Given the description of an element on the screen output the (x, y) to click on. 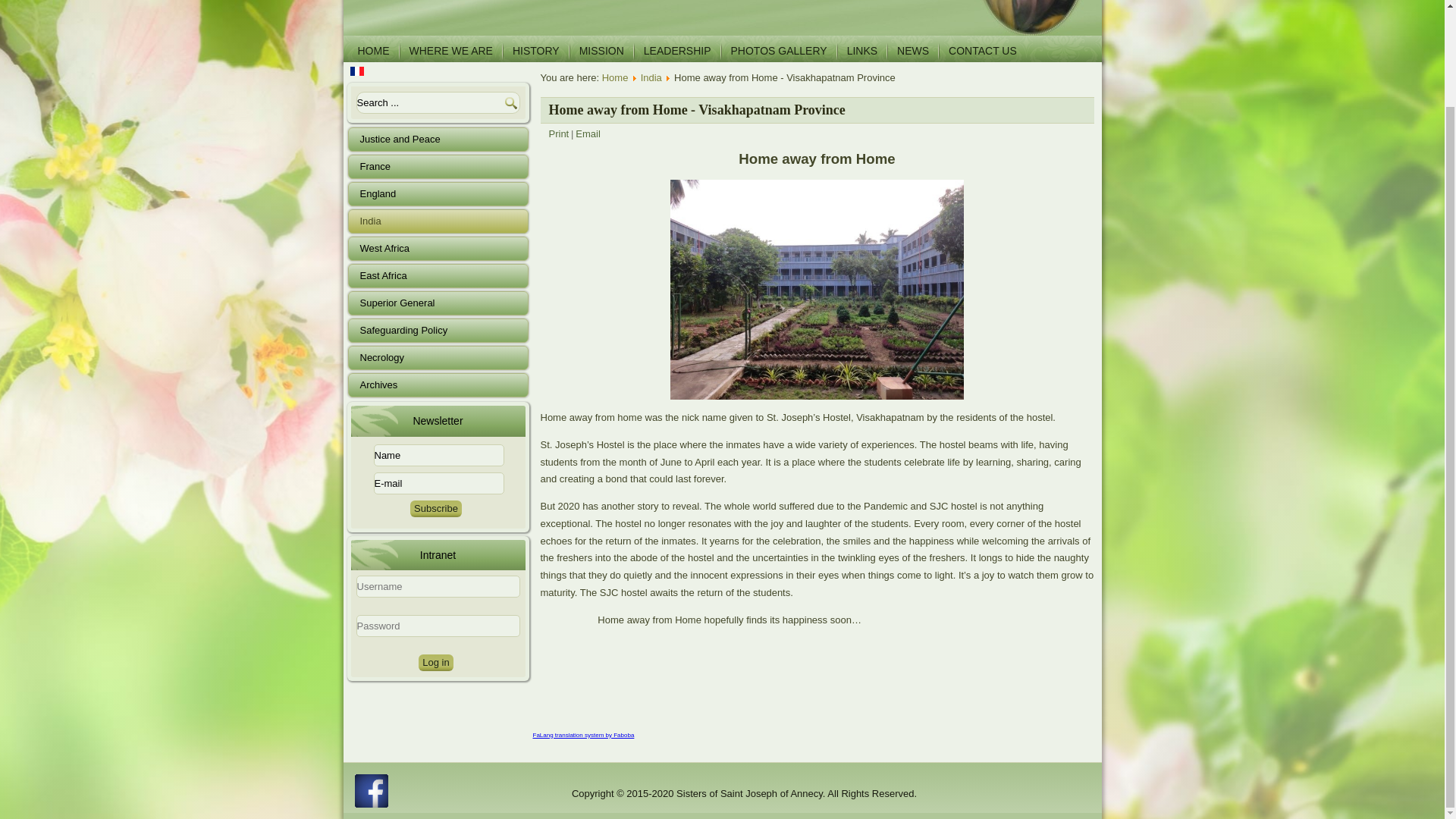
Name (437, 455)
FaLang translation system by Faboba (582, 735)
E-mail (437, 483)
Name (437, 455)
England (437, 193)
HOME (373, 51)
India (651, 77)
Archives (437, 385)
Necrology (437, 357)
NEWS (912, 51)
Superior General (437, 303)
MISSION (601, 51)
CONTACT US (982, 51)
West Africa (437, 248)
PHOTOS GALLERY (778, 51)
